Given the description of an element on the screen output the (x, y) to click on. 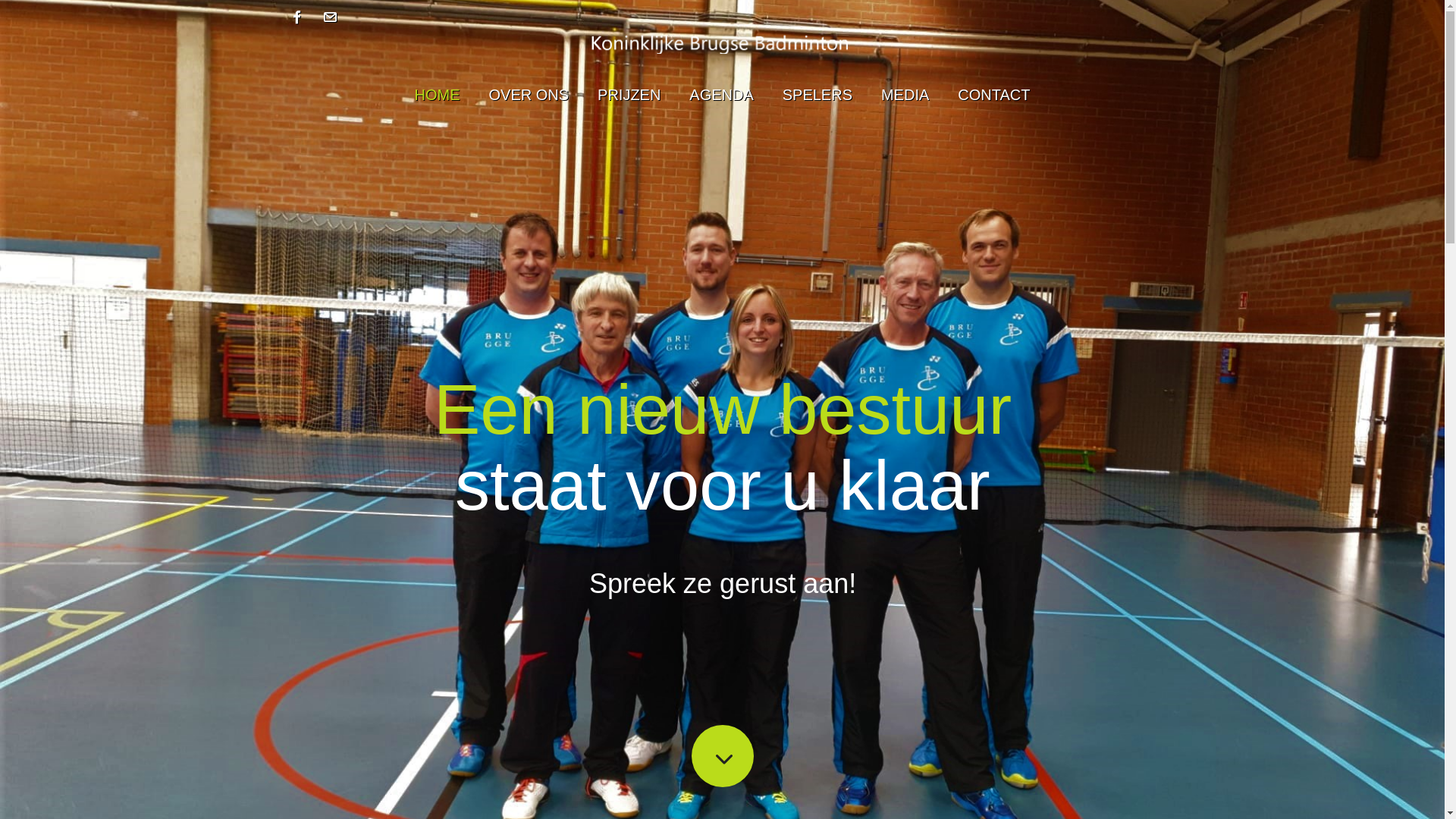
SPELERS Element type: text (817, 94)
MEDIA Element type: text (904, 94)
OVER ONS Element type: text (528, 94)
HOME Element type: text (437, 94)
AGENDA Element type: text (720, 94)
PRIJZEN Element type: text (628, 94)
CONTACT Element type: text (993, 94)
